Given the description of an element on the screen output the (x, y) to click on. 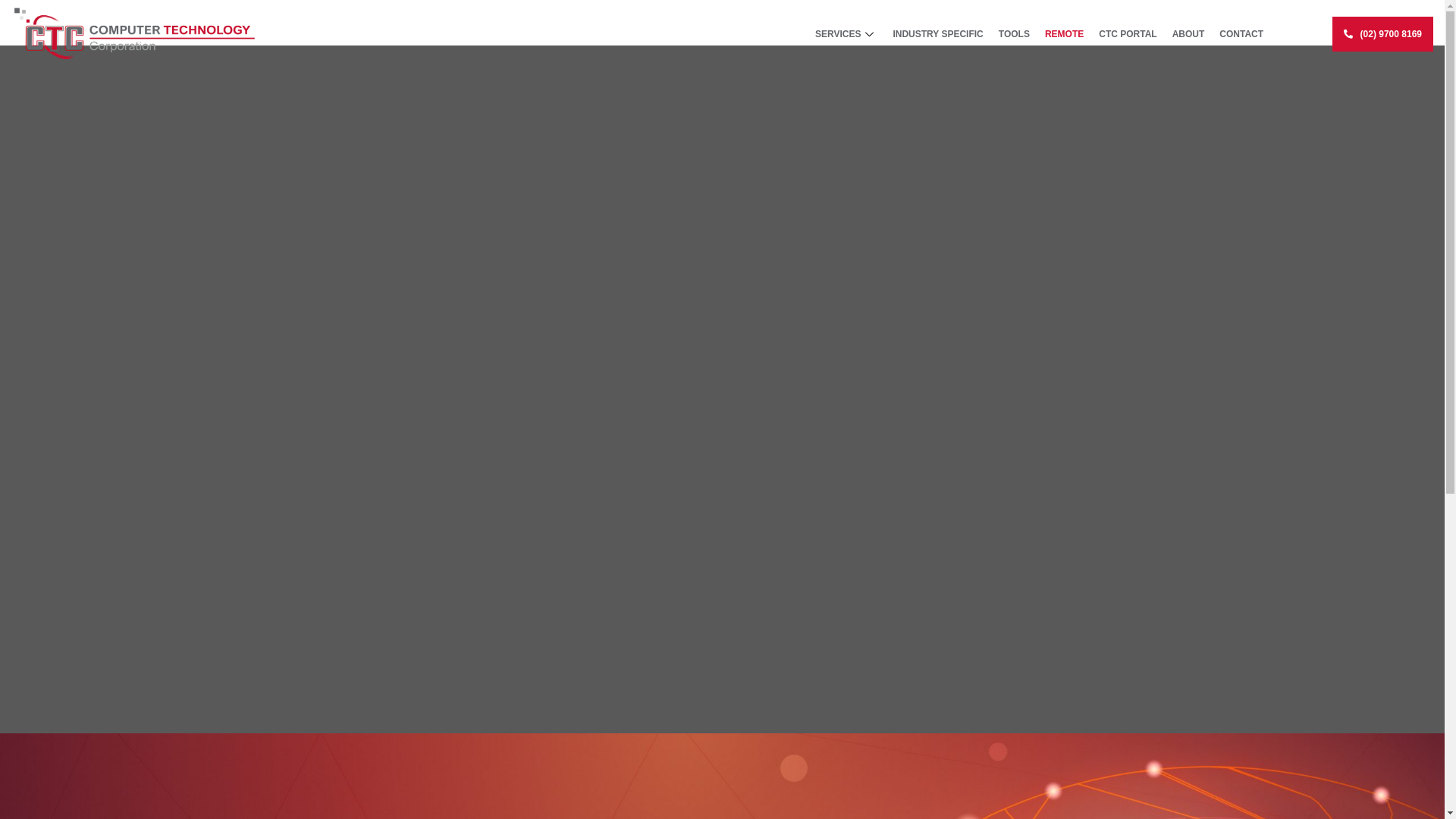
CONTACT Element type: text (1240, 34)
(02) 9700 8169 Element type: text (1382, 34)
TOOLS Element type: text (1014, 34)
SERVICES Element type: text (845, 34)
CTC PORTAL Element type: text (1127, 34)
REMOTE Element type: text (1064, 34)
ABOUT Element type: text (1188, 34)
INDUSTRY SPECIFIC Element type: text (937, 34)
